Given the description of an element on the screen output the (x, y) to click on. 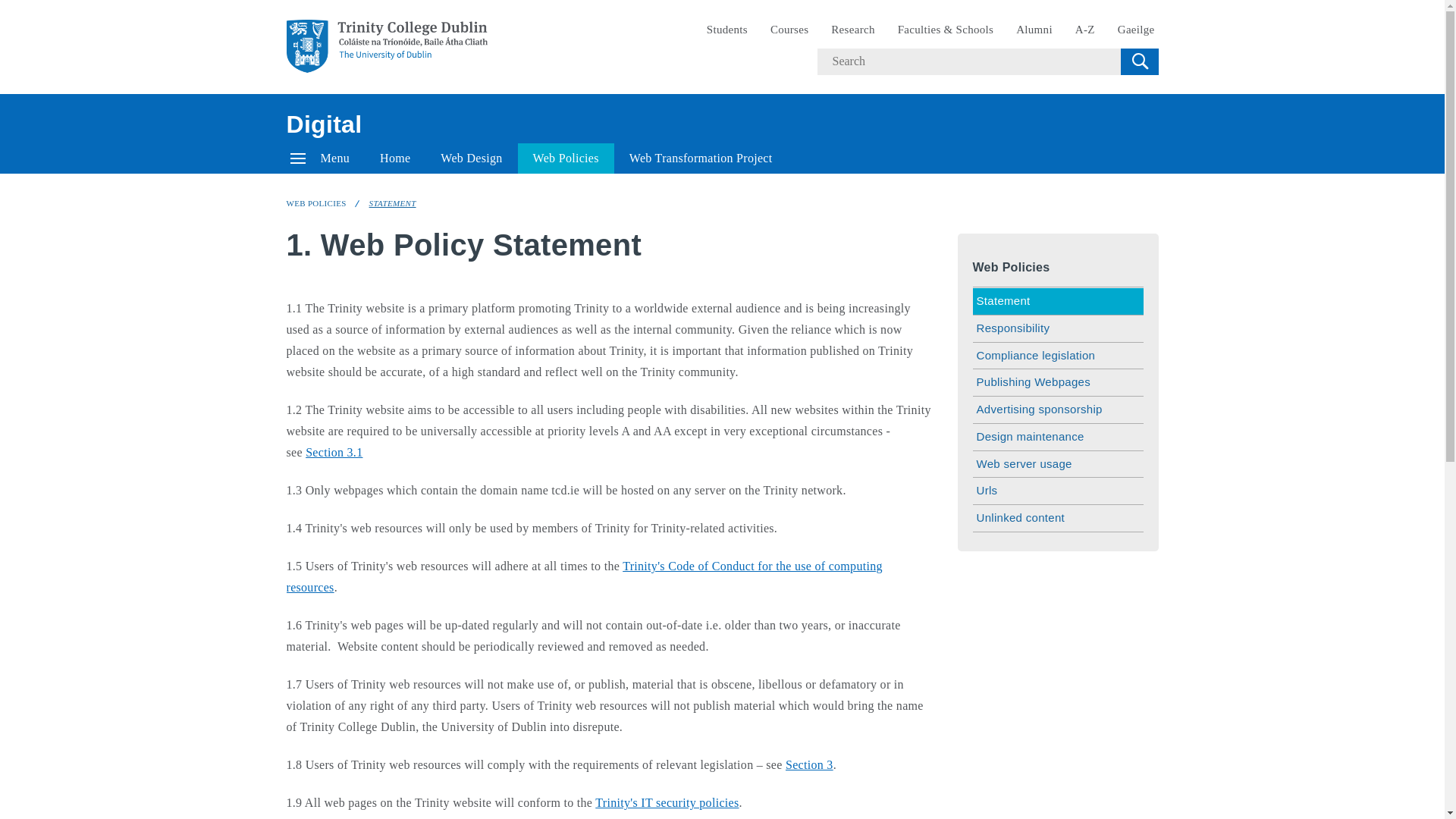
Menu (320, 158)
Alumni (1034, 29)
Web Design (470, 158)
Search (1139, 61)
Web Transformation Project (700, 158)
A-Z (1085, 29)
Courses (789, 29)
Web Policies (566, 158)
Trinity's Code of Conduct for the use of computing resources (584, 576)
Students (727, 29)
